Given the description of an element on the screen output the (x, y) to click on. 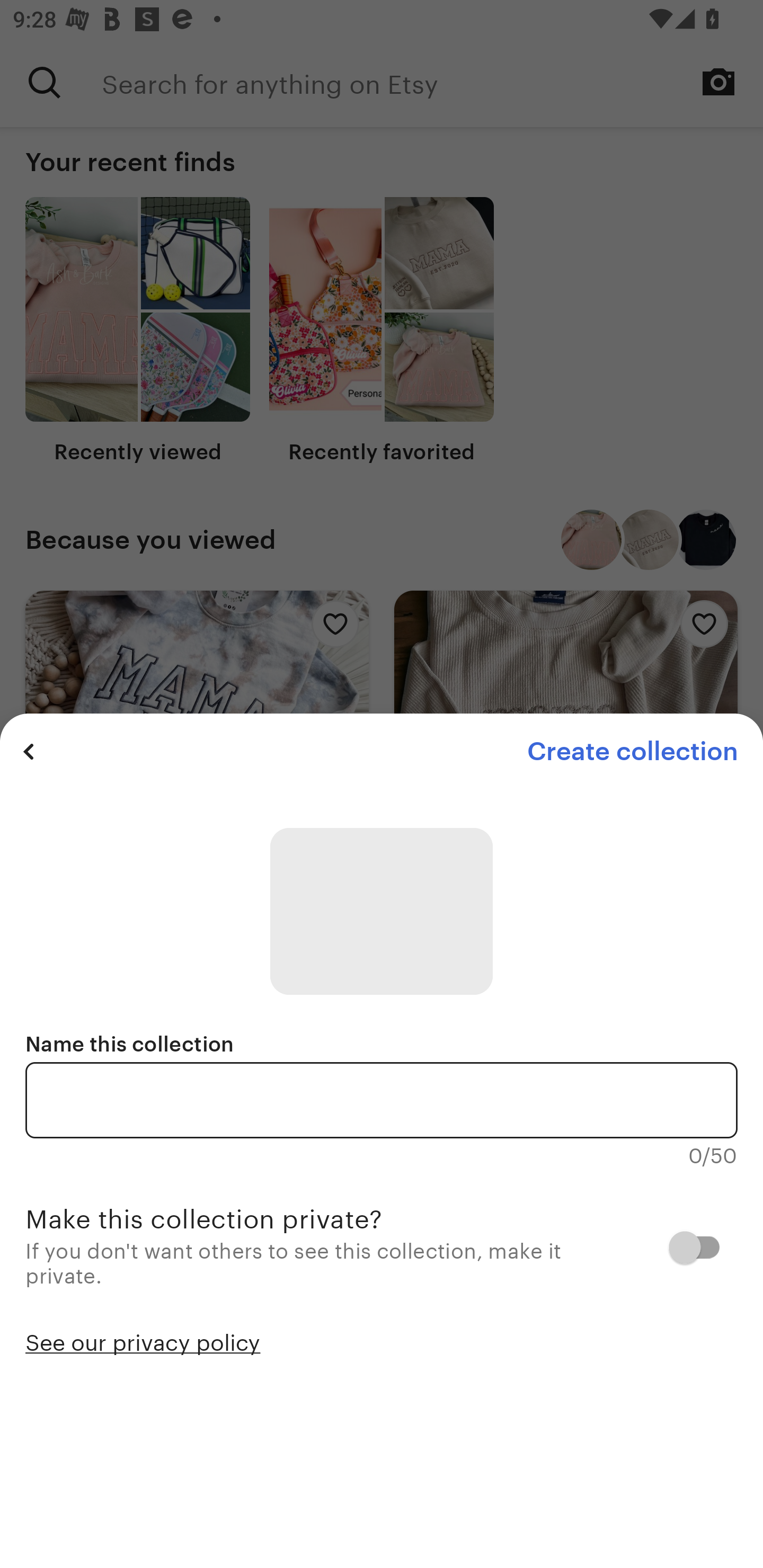
Previous (28, 751)
Create collection (632, 751)
See our privacy policy (142, 1341)
